Given the description of an element on the screen output the (x, y) to click on. 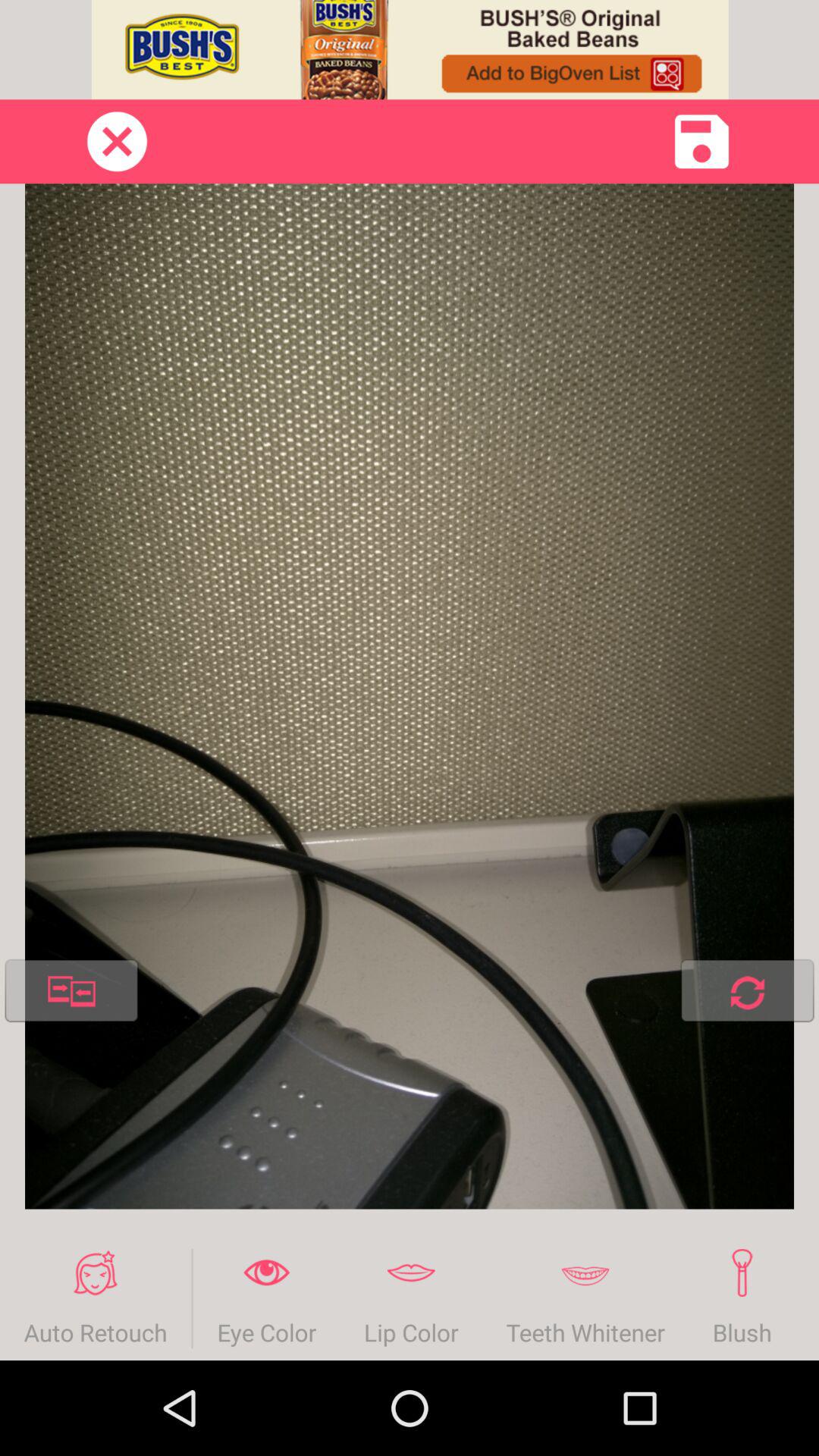
swipe to the lip color item (411, 1298)
